Given the description of an element on the screen output the (x, y) to click on. 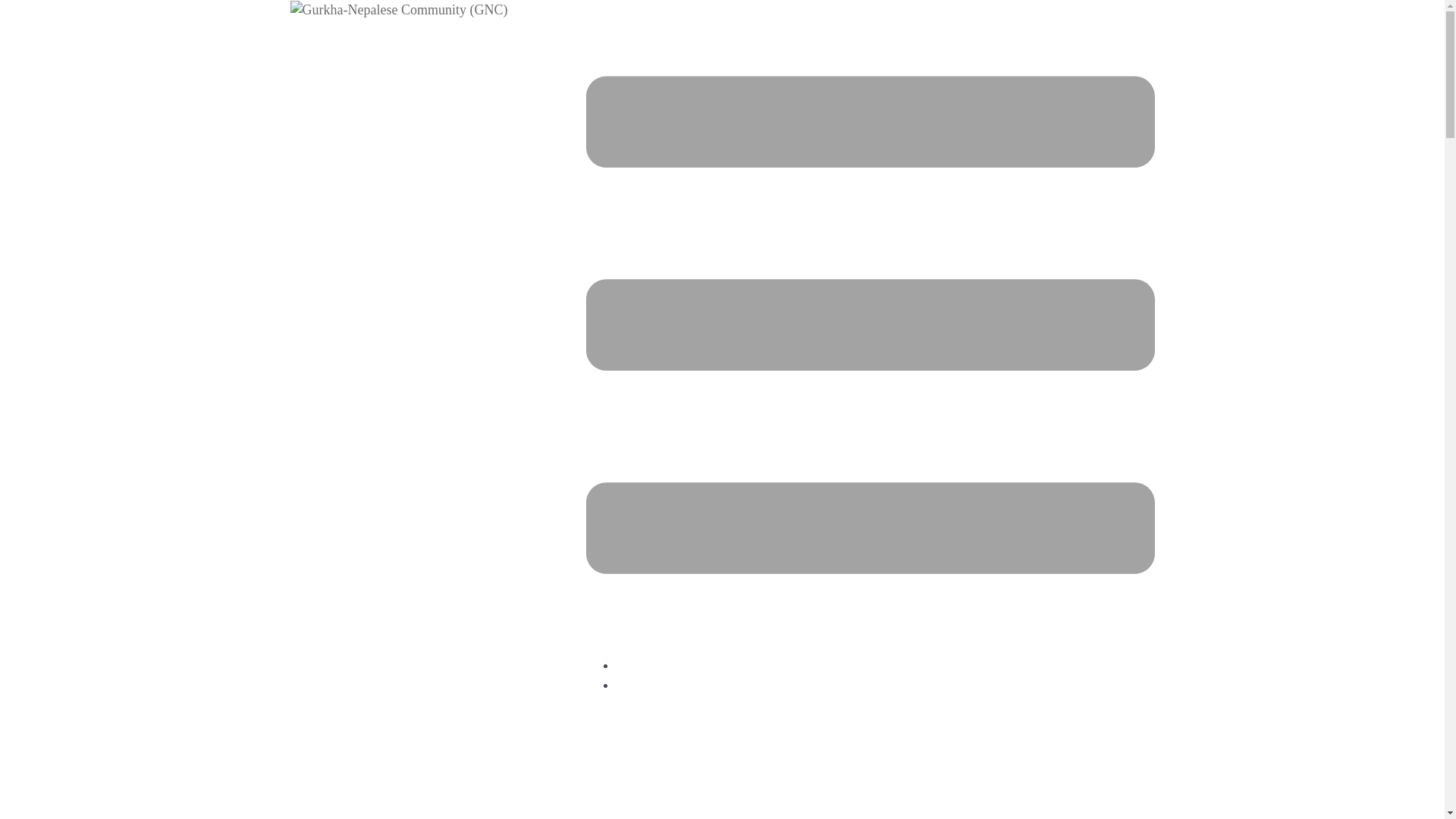
GNC Football 2023/24 Element type: text (678, 684)
Gurkha-Nepalese Community (GNC) Element type: hover (398, 8)
About GNC Element type: text (648, 664)
